Given the description of an element on the screen output the (x, y) to click on. 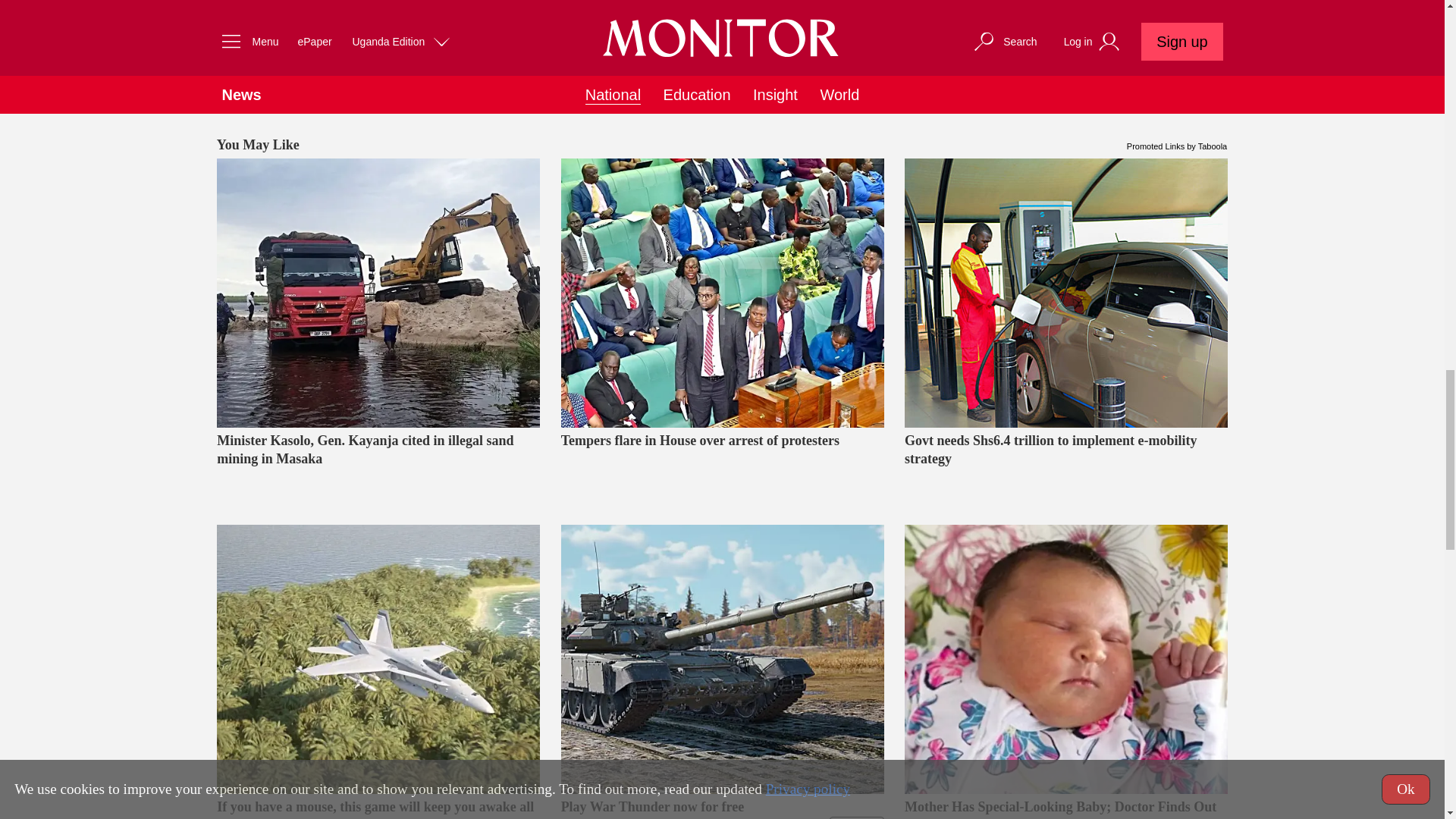
Tempers flare in House over arrest of protesters (721, 292)
Tempers flare in House over arrest of protesters (721, 467)
Play War Thunder now for free (721, 658)
Play War Thunder now for free (721, 808)
